Given the description of an element on the screen output the (x, y) to click on. 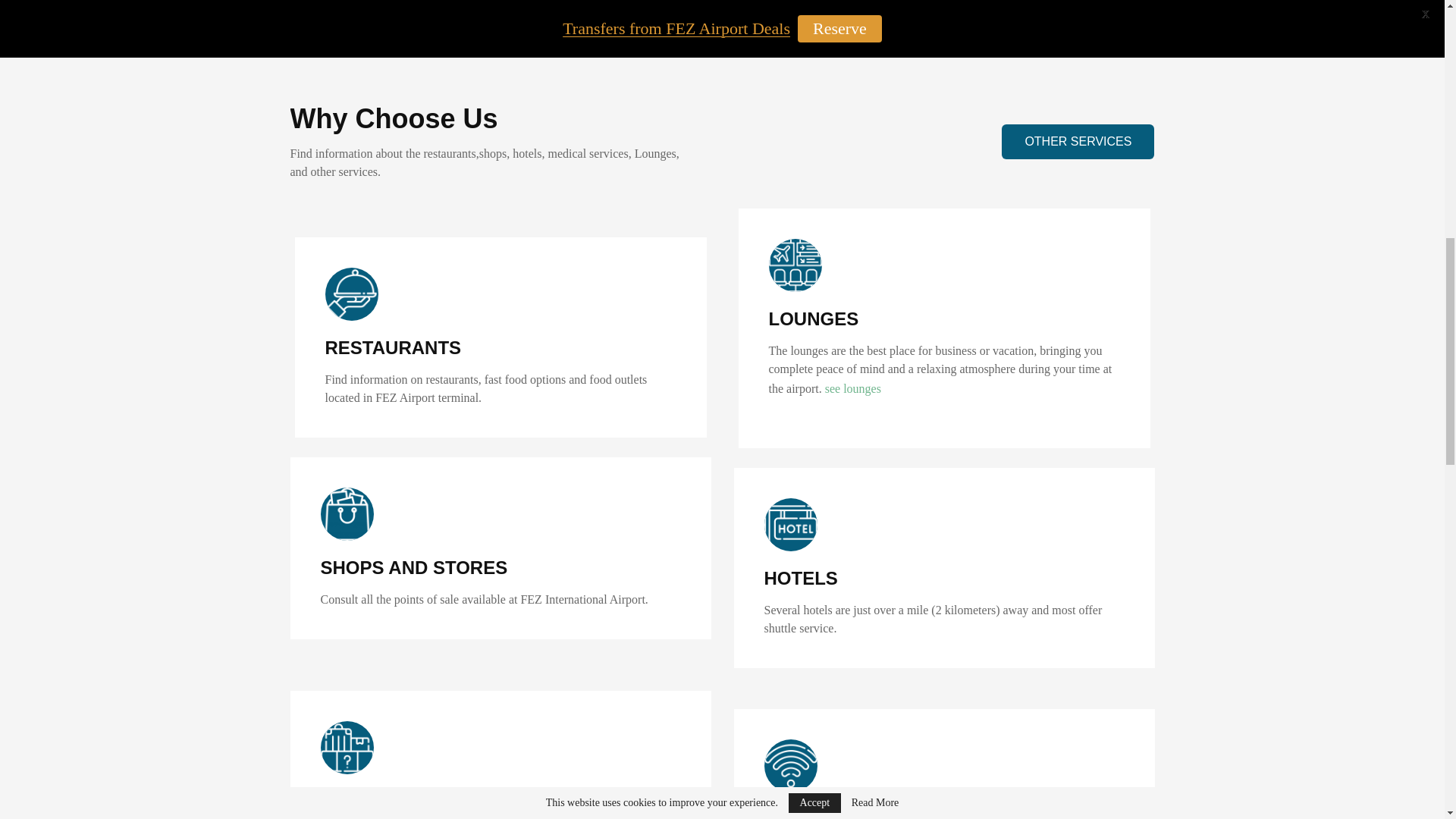
OTHER SERVICES (1077, 141)
see lounges (852, 388)
